Given the description of an element on the screen output the (x, y) to click on. 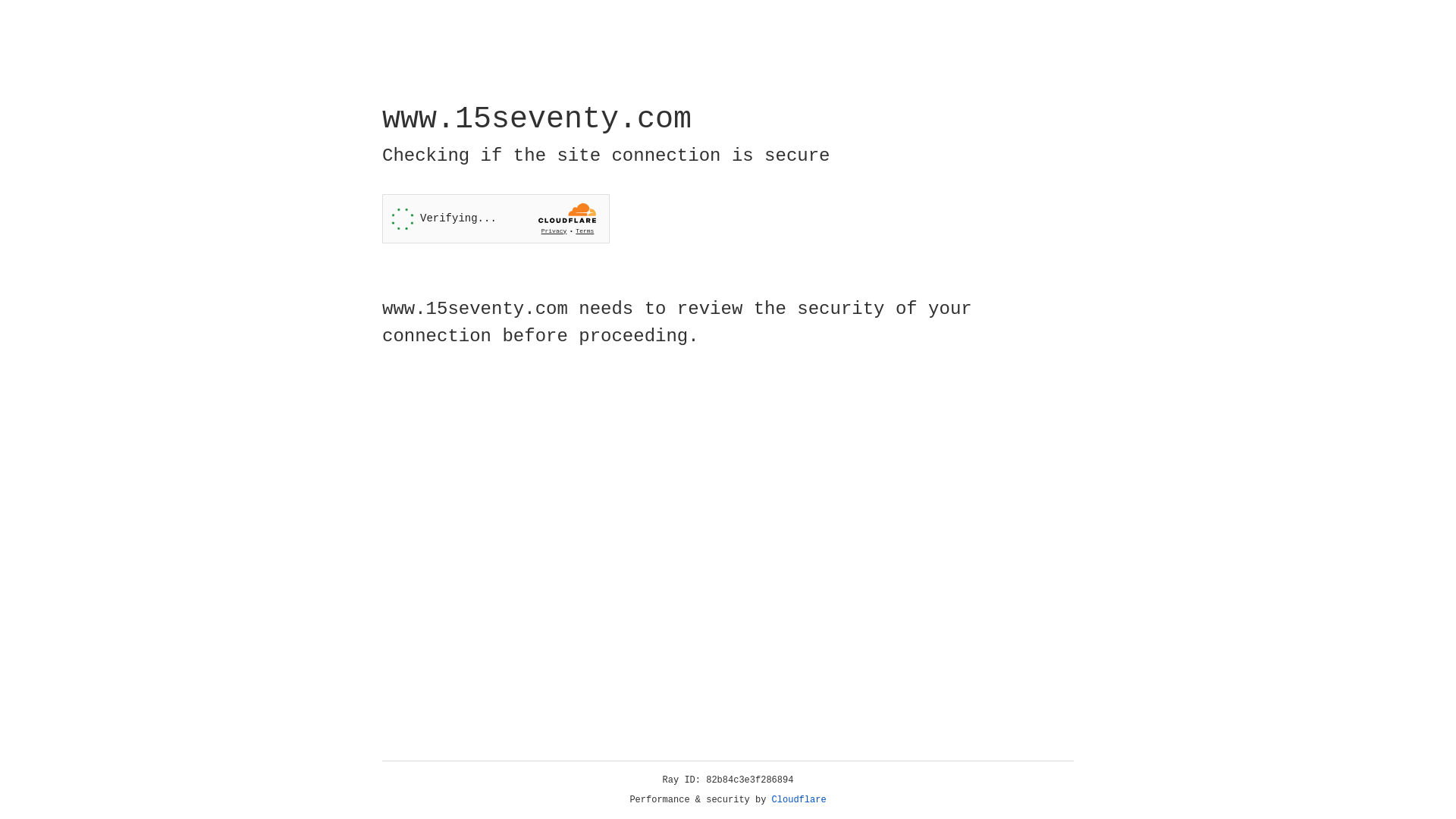
Cloudflare Element type: text (798, 799)
Widget containing a Cloudflare security challenge Element type: hover (495, 218)
